Given the description of an element on the screen output the (x, y) to click on. 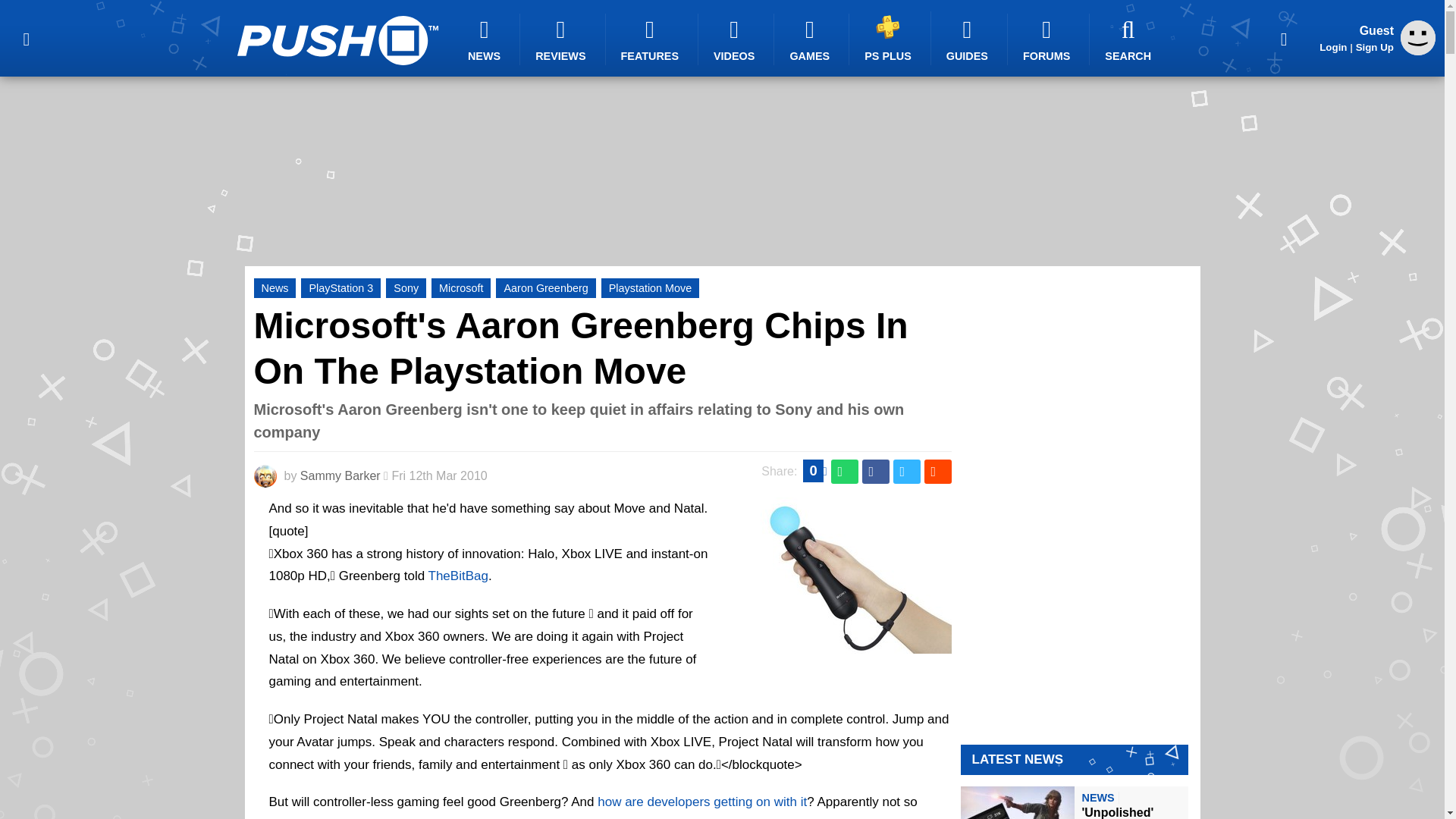
Guest (1417, 51)
Share this on WhatsApp (845, 471)
Push Square (336, 40)
Sign Up (1374, 47)
Aaron Greenberg (545, 288)
Playstation Move (650, 288)
VIDEOS (736, 39)
FEATURES (651, 39)
Microsoft (460, 288)
Share this on Twitter (906, 471)
Microsoft's Aaron Greenberg Chips In On The Playstation Move (580, 348)
FORUMS (1048, 39)
REVIEWS (562, 39)
Menu (26, 37)
Push Square (336, 40)
